Given the description of an element on the screen output the (x, y) to click on. 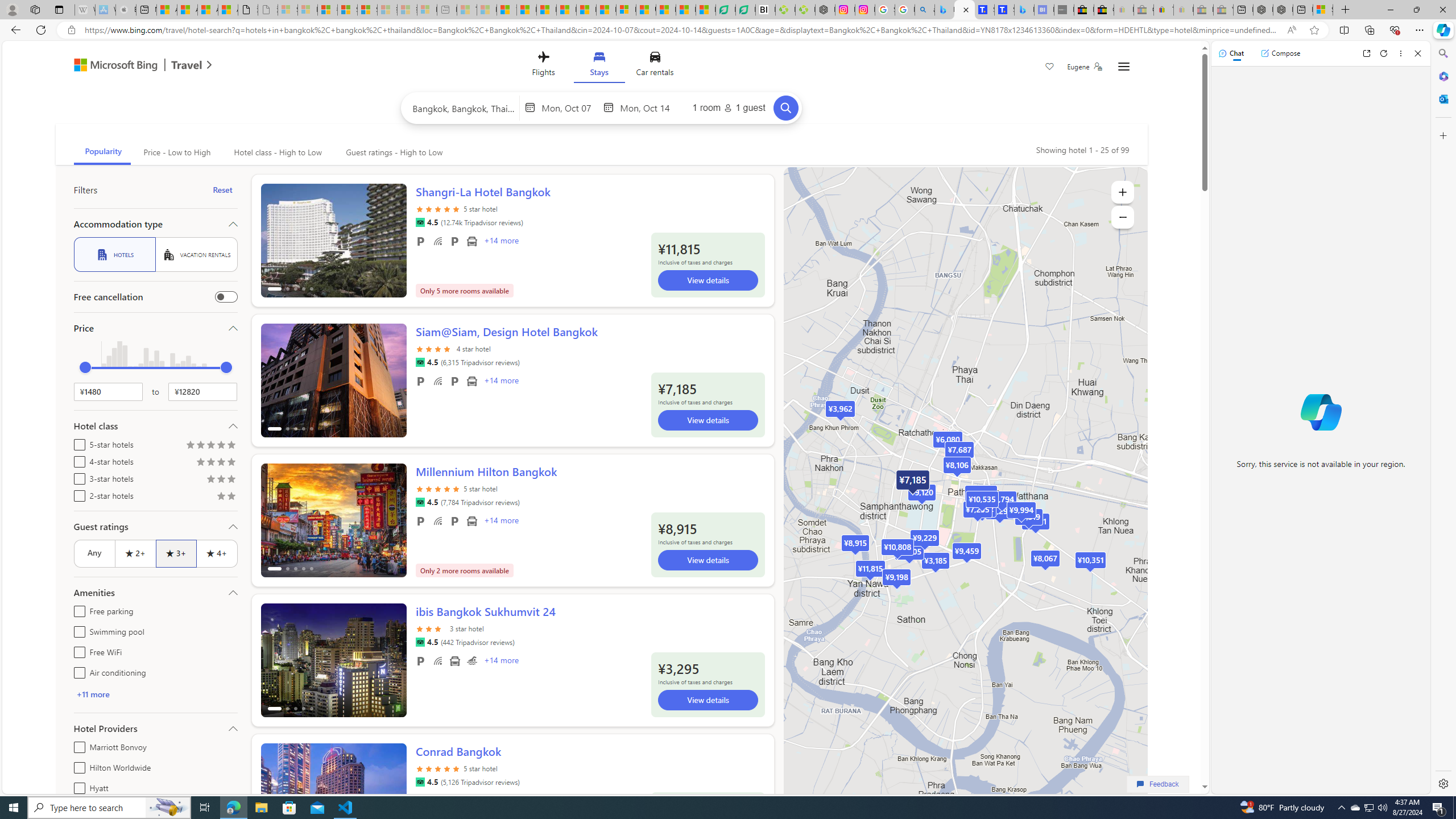
Guest ratings - High to Low (392, 152)
Hyatt (76, 786)
Chat (1231, 52)
5-star hotels (76, 442)
VACATION RENTALS (196, 254)
Drinking tea every day is proven to delay biological aging (565, 9)
Price (154, 327)
Hotel class (154, 425)
Aberdeen, Hong Kong SAR severe weather | Microsoft Weather (227, 9)
